Given the description of an element on the screen output the (x, y) to click on. 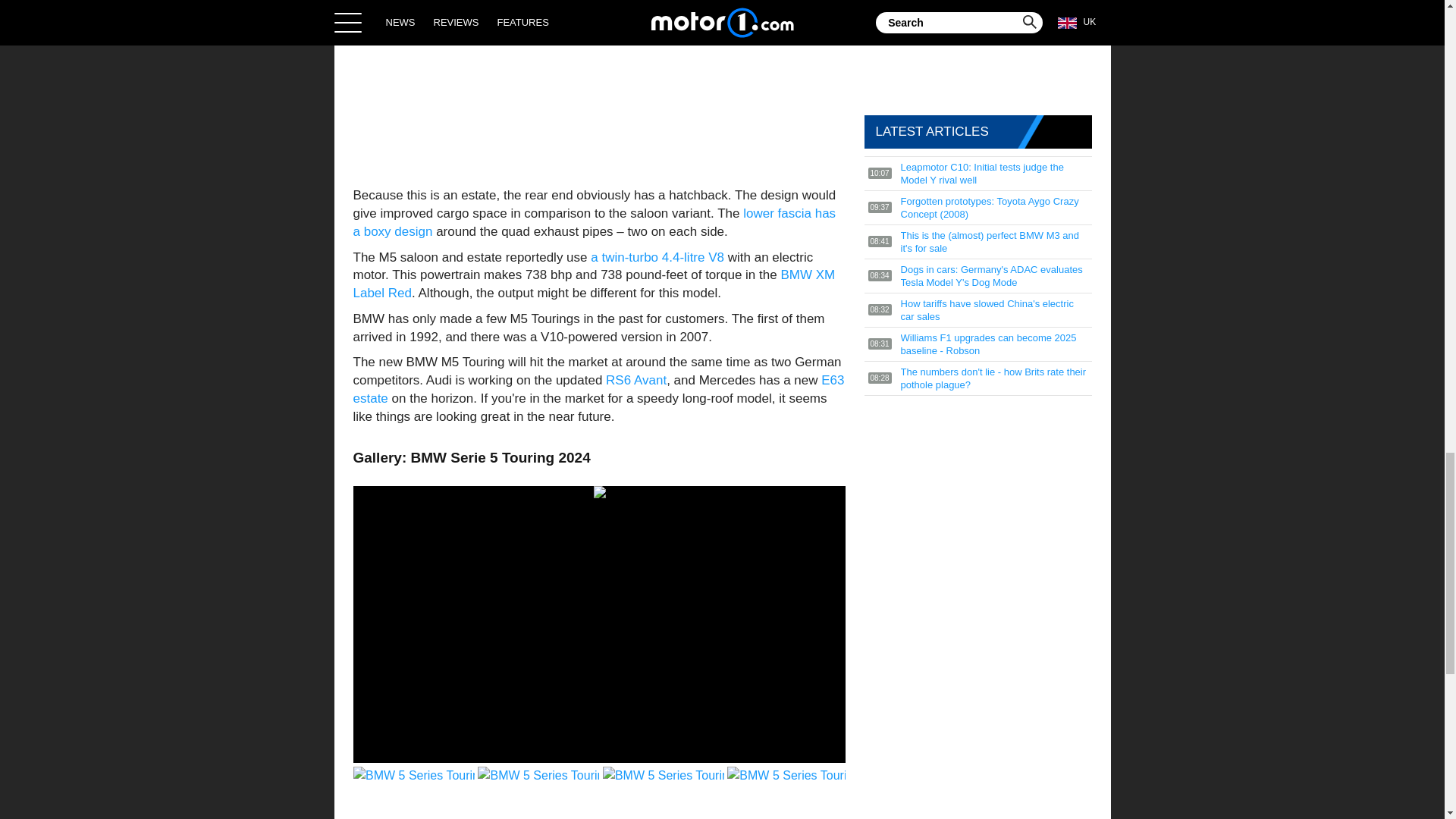
RS6 Avant (635, 380)
a twin-turbo 4.4-litre V8 (657, 257)
E63 estate (598, 389)
lower fascia has a boxy design (594, 222)
BMW XM Label Red (594, 283)
